Given the description of an element on the screen output the (x, y) to click on. 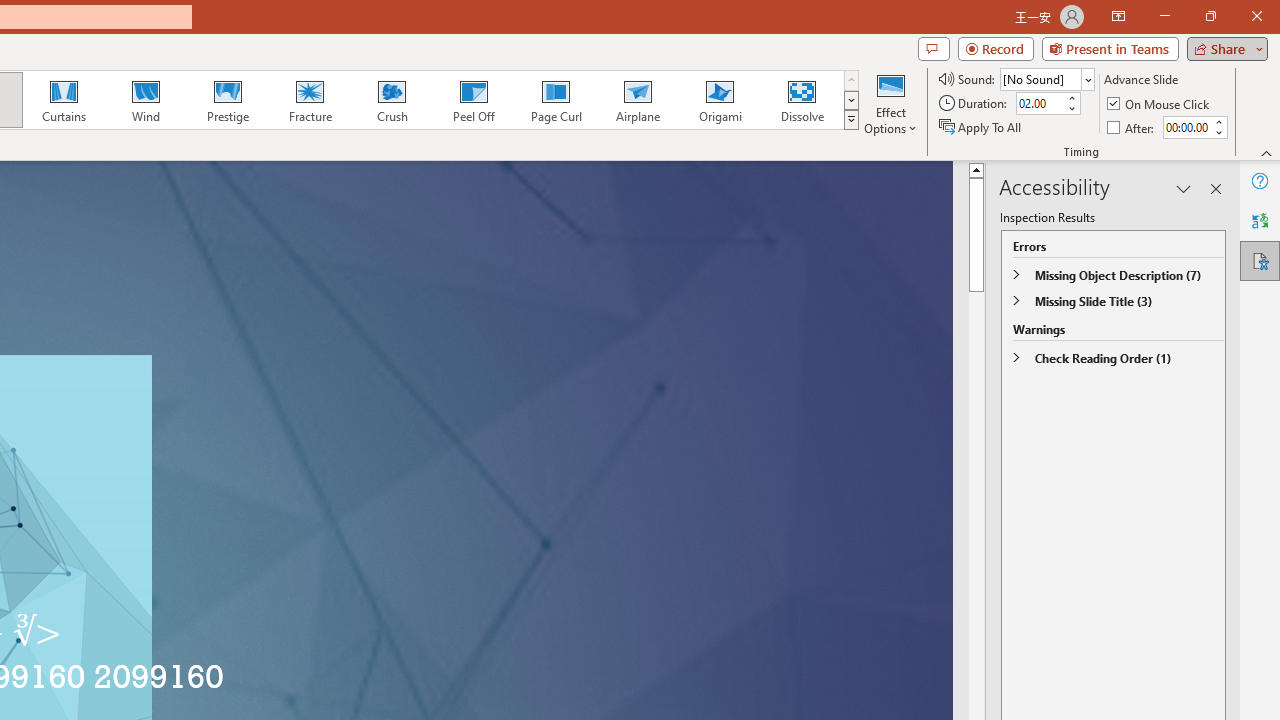
Page Curl (555, 100)
Transition Effects (850, 120)
Curtains (63, 100)
On Mouse Click (1159, 103)
Duration (1039, 103)
Dissolve (802, 100)
Origami (719, 100)
